Given the description of an element on the screen output the (x, y) to click on. 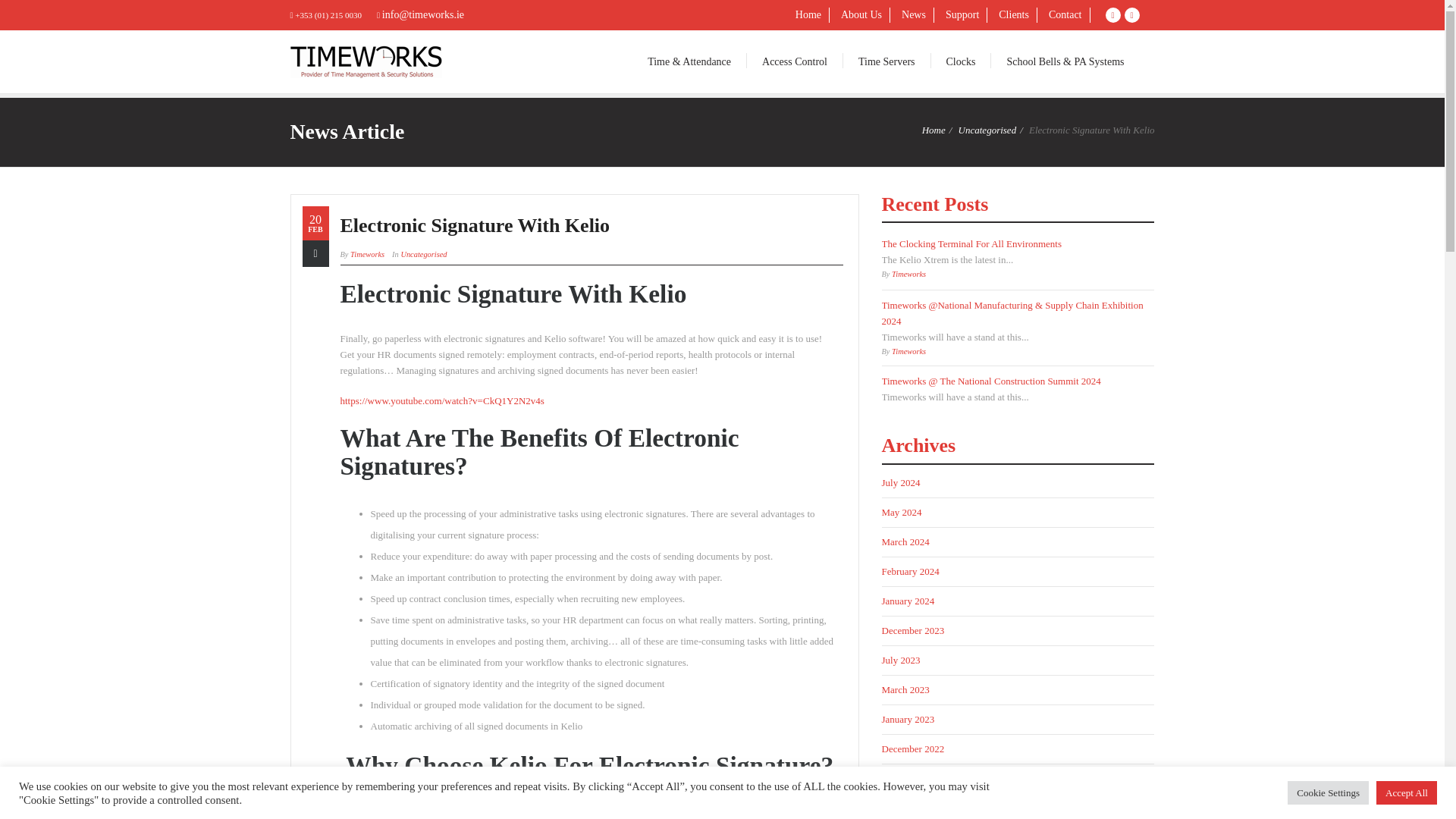
News (913, 14)
Time Servers (886, 61)
Home (808, 14)
Home (808, 14)
Contact (1065, 14)
Clocks (961, 61)
Timeworks (367, 254)
Home (932, 129)
Posts by Timeworks (367, 254)
About Us (860, 14)
